Given the description of an element on the screen output the (x, y) to click on. 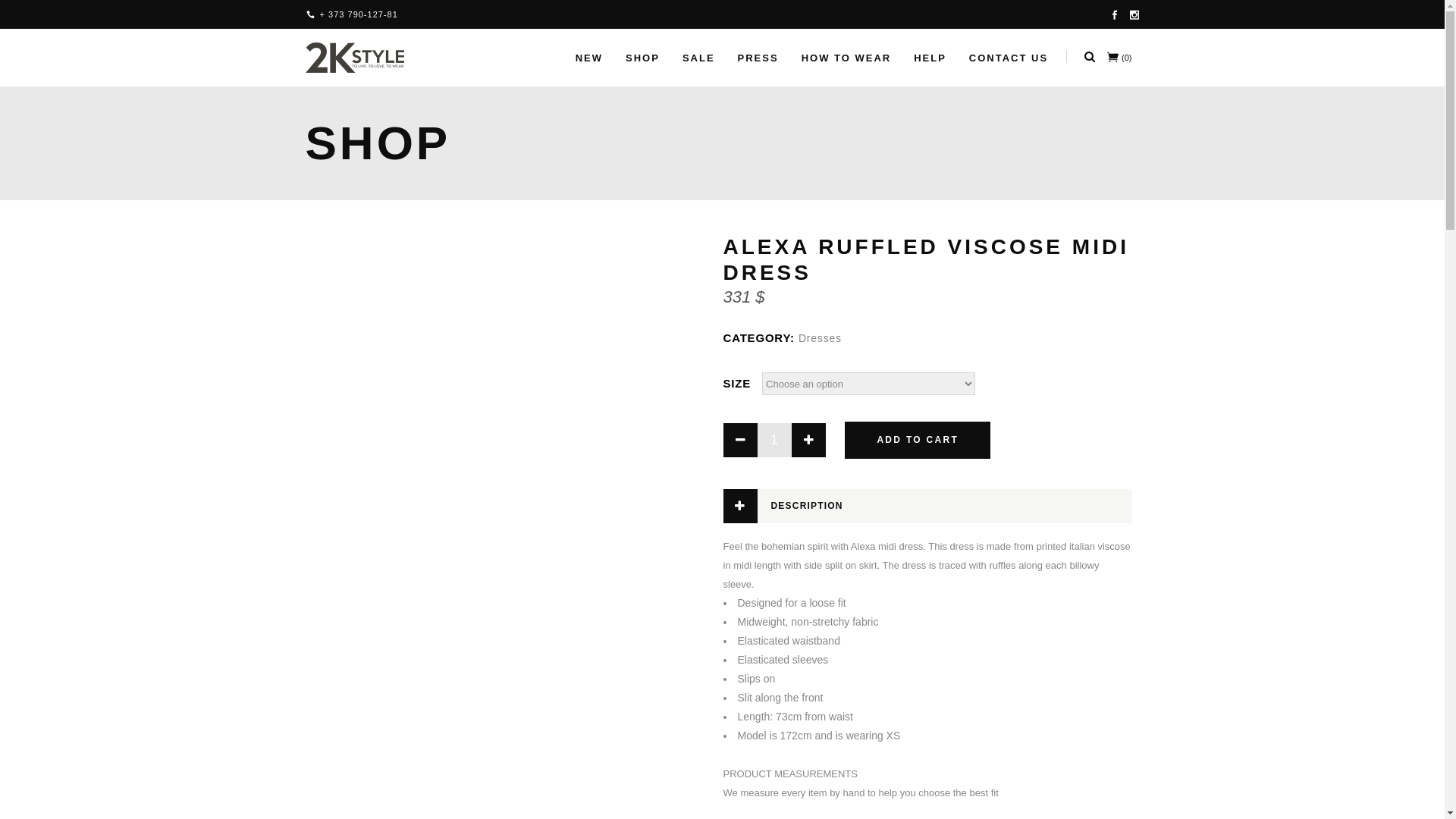
SALE Element type: text (698, 57)
ADD TO CART Element type: text (917, 439)
CONTACT US Element type: text (1008, 57)
HELP Element type: text (929, 57)
Dresses Element type: text (819, 338)
NEW Element type: text (589, 57)
(0) Element type: text (1119, 57)
SHOP Element type: text (642, 57)
PRESS Element type: text (758, 57)
Qty Element type: hover (773, 440)
HOW TO WEAR Element type: text (846, 57)
